Given the description of an element on the screen output the (x, y) to click on. 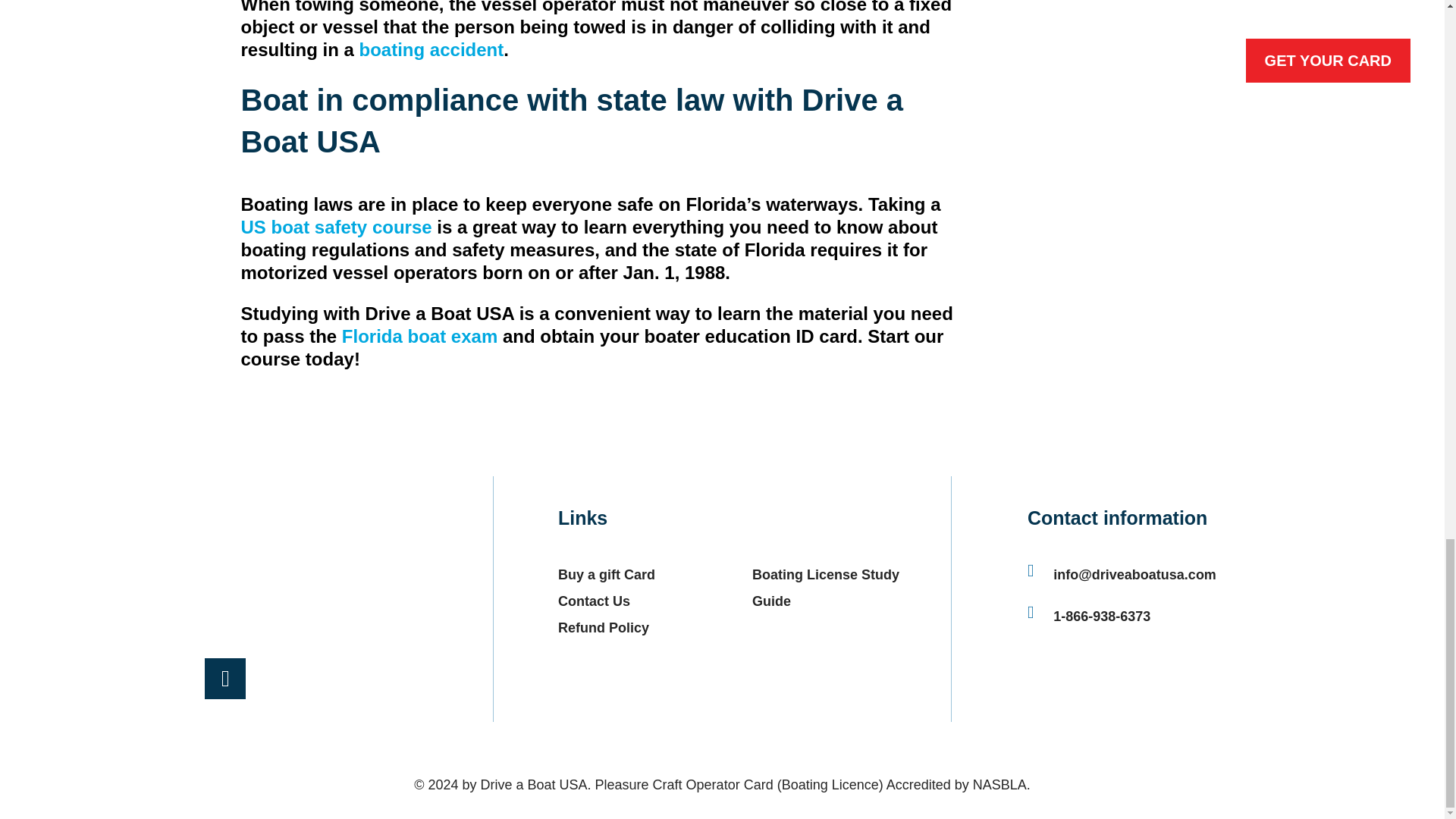
boating accident (431, 49)
Drive a Boat USA Logo (225, 551)
Florida boat exam (419, 335)
US boat safety course (336, 227)
